Given the description of an element on the screen output the (x, y) to click on. 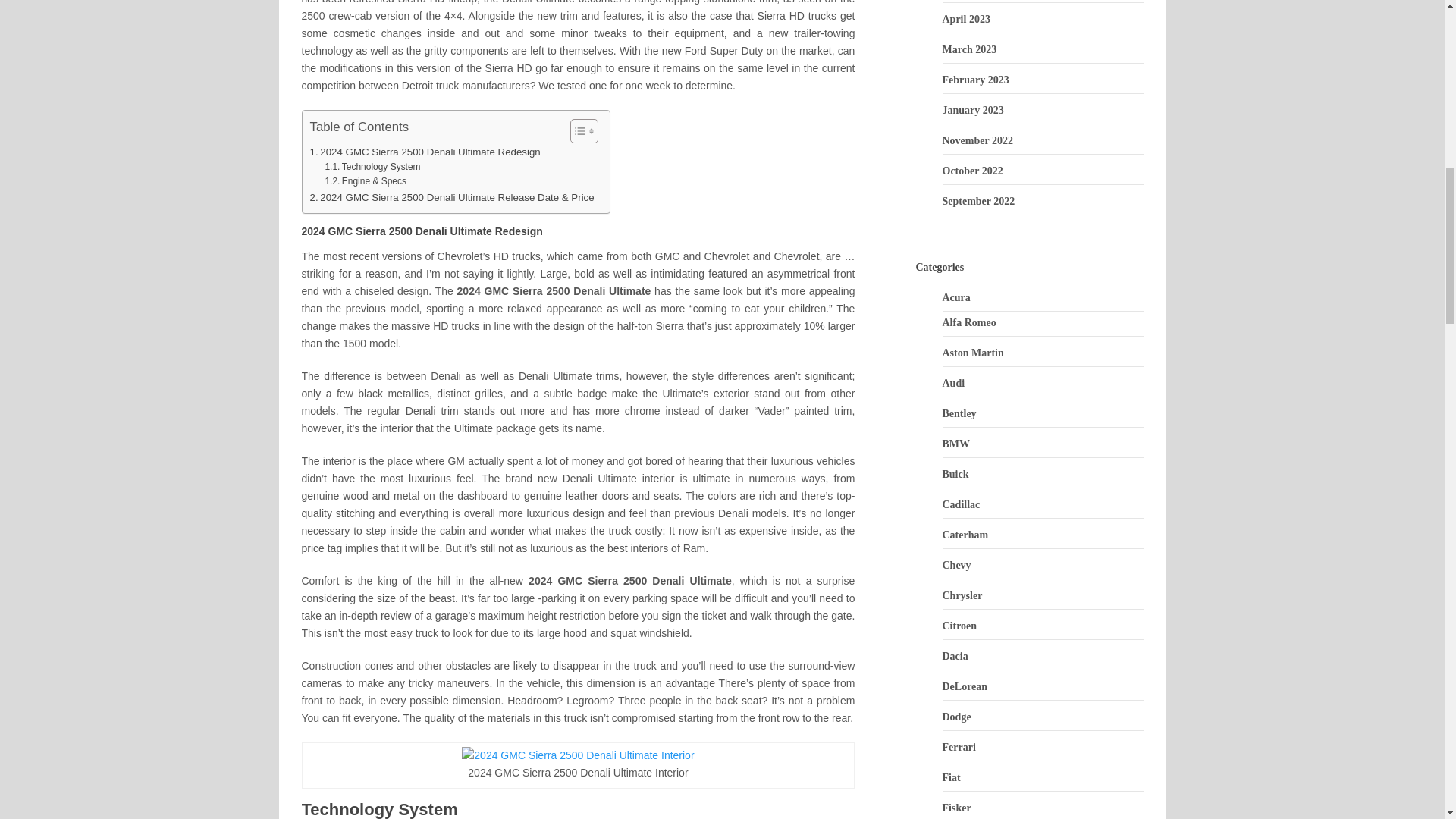
Technology System (372, 166)
2024 GMC Sierra 2500 Denali Ultimate Redesign (424, 151)
